Given the description of an element on the screen output the (x, y) to click on. 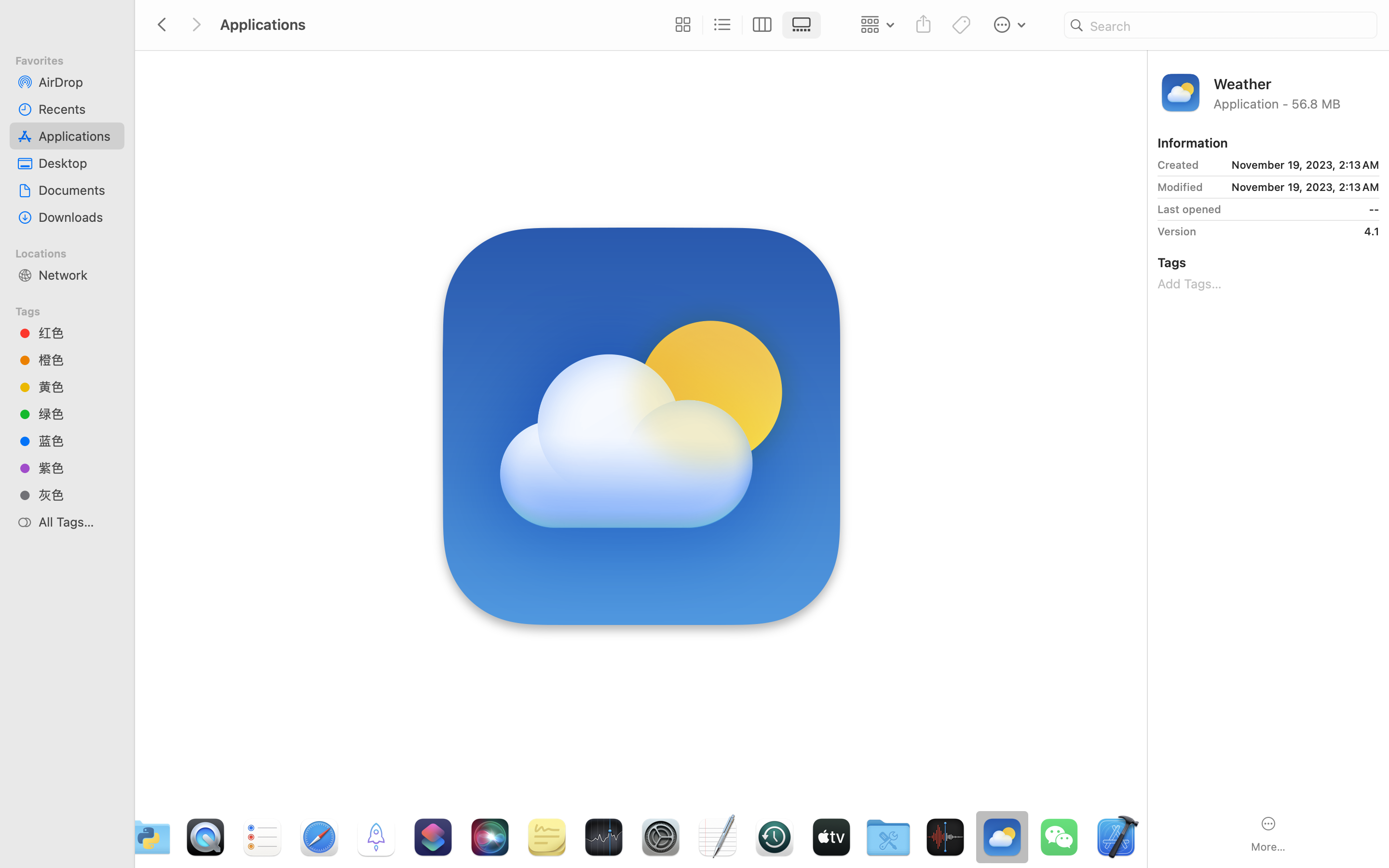
橙色 Element type: AXStaticText (77, 359)
November 19, 2023, 2:13 AM Element type: AXStaticText (1292, 164)
Weather Element type: AXStaticText (1296, 82)
Locations Element type: AXStaticText (72, 252)
Tags Element type: AXStaticText (72, 309)
